Given the description of an element on the screen output the (x, y) to click on. 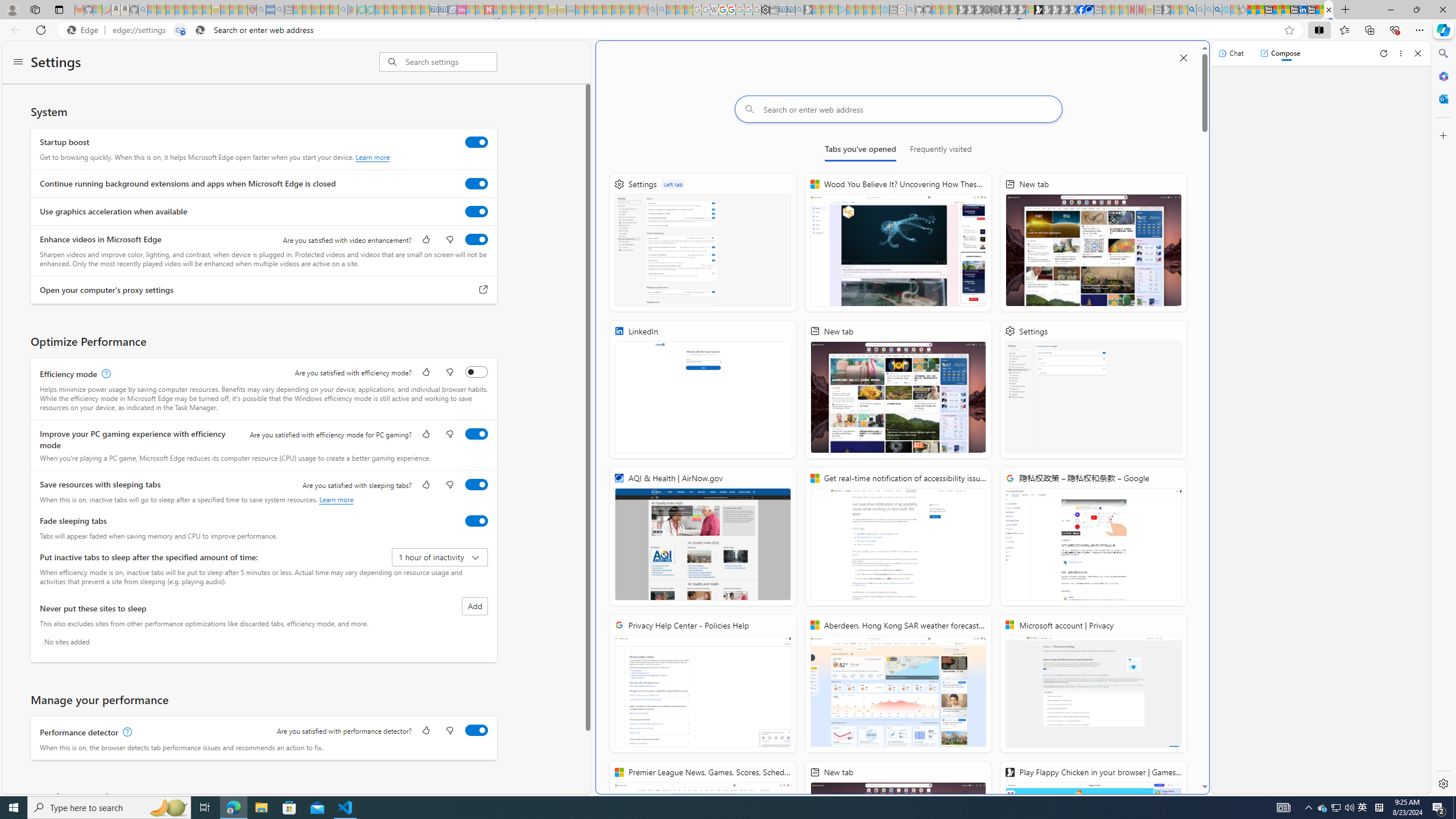
Frequently visited (941, 151)
Target page - Wikipedia - Sleeping (713, 9)
